Given the description of an element on the screen output the (x, y) to click on. 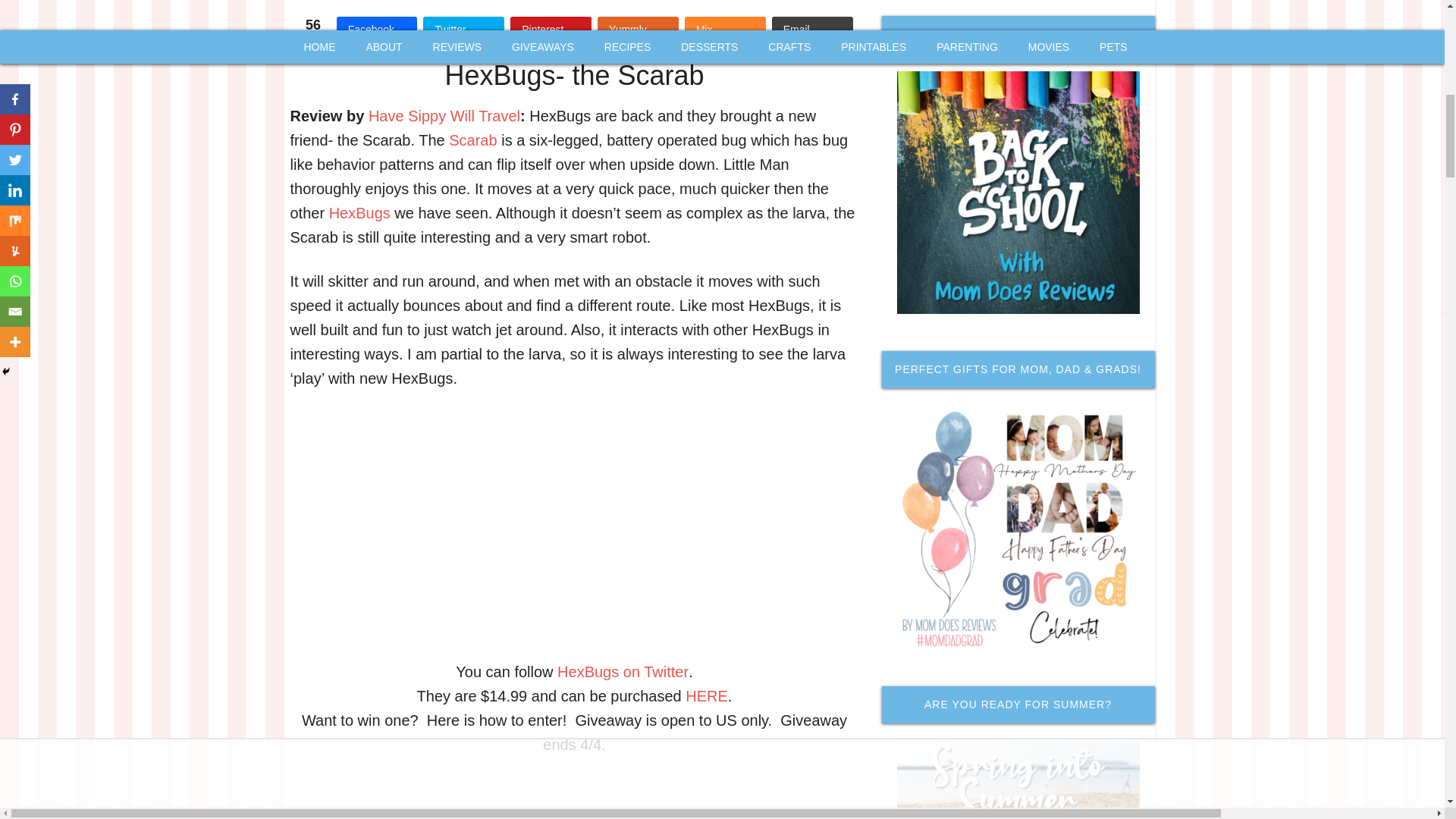
Facebook (376, 29)
